Given the description of an element on the screen output the (x, y) to click on. 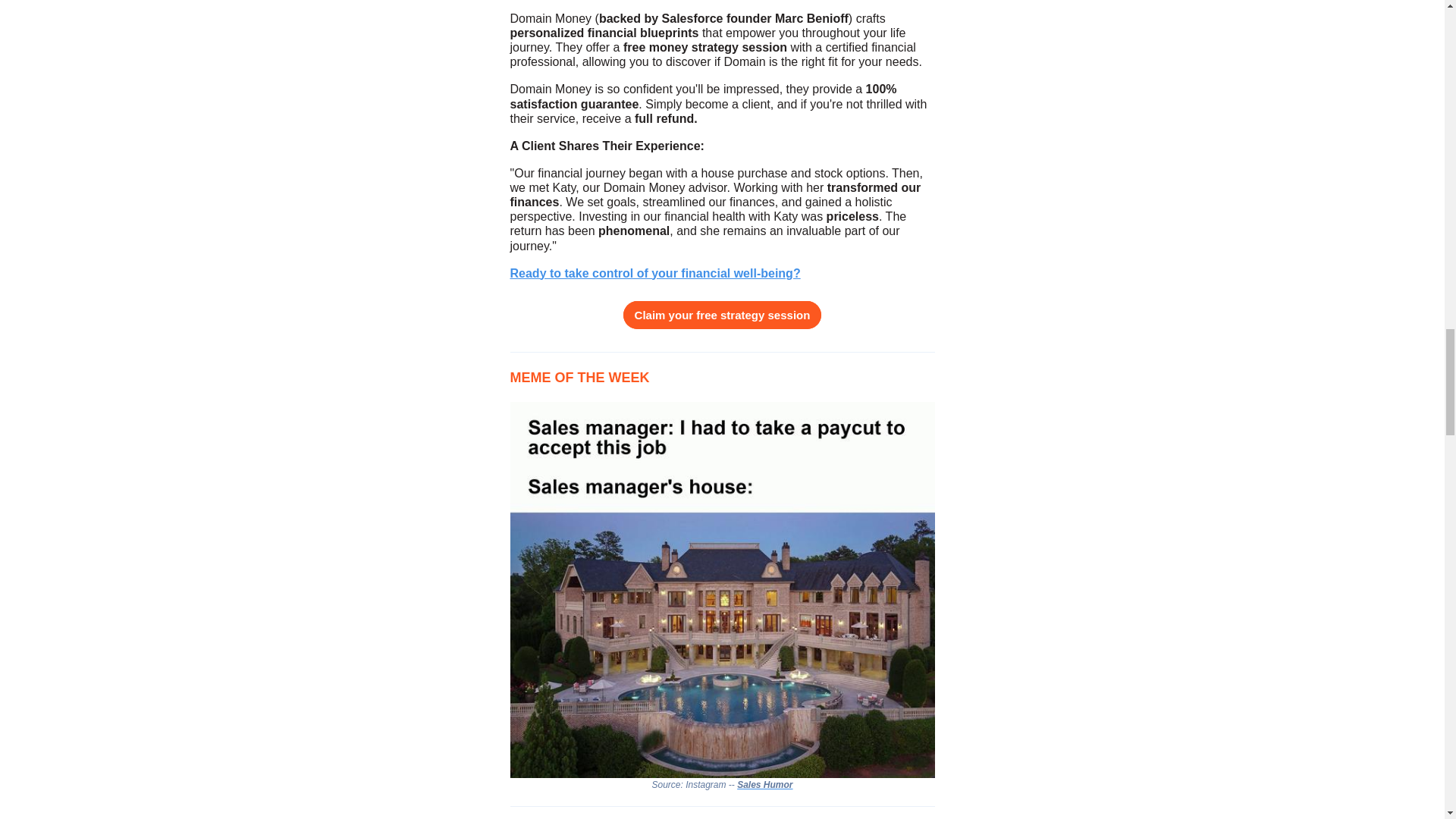
Claim your free strategy session (722, 315)
Sales Humor (764, 784)
Ready to take control of your financial well-being? (654, 273)
